Given the description of an element on the screen output the (x, y) to click on. 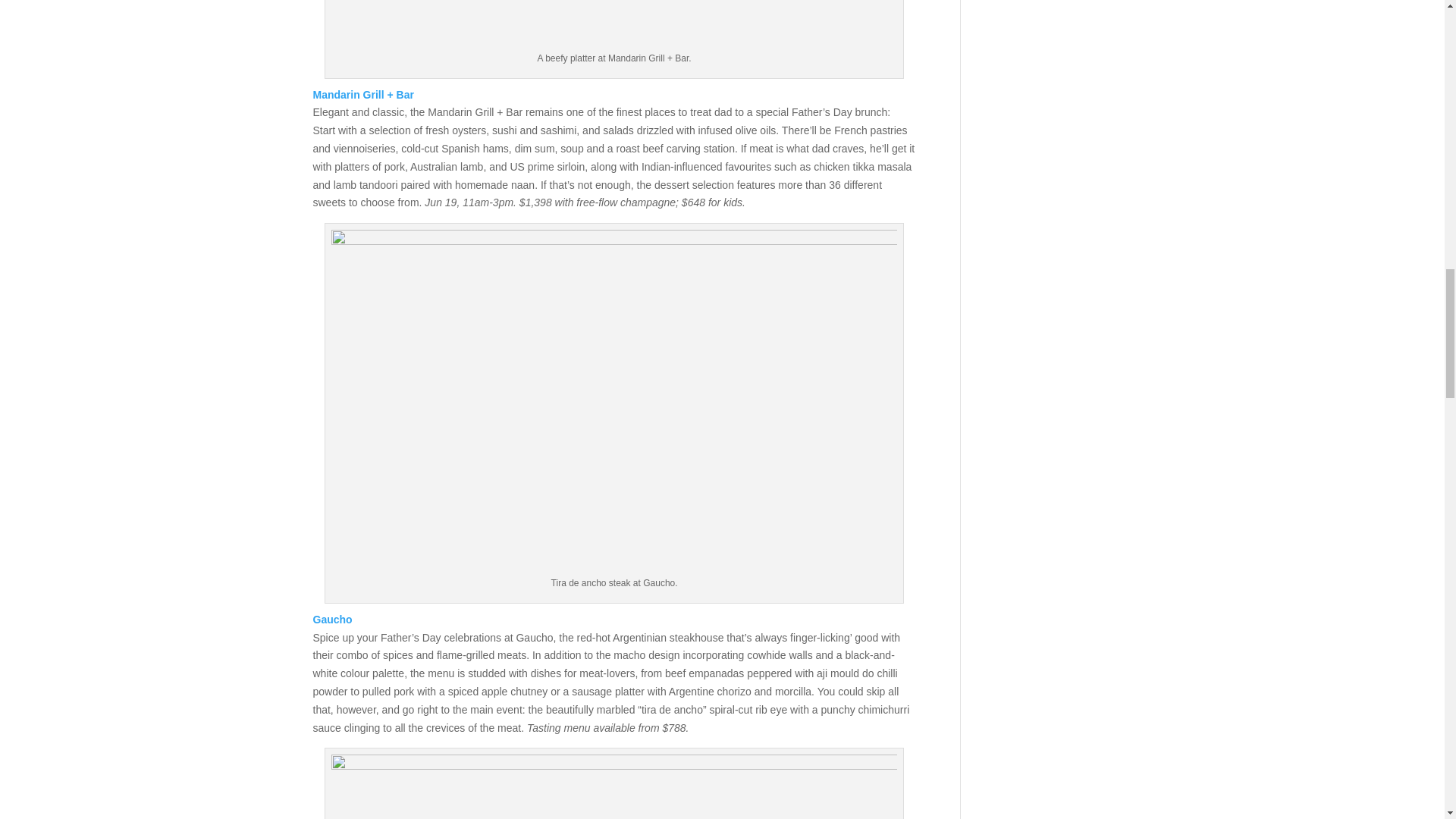
Gaucho (332, 619)
